Given the description of an element on the screen output the (x, y) to click on. 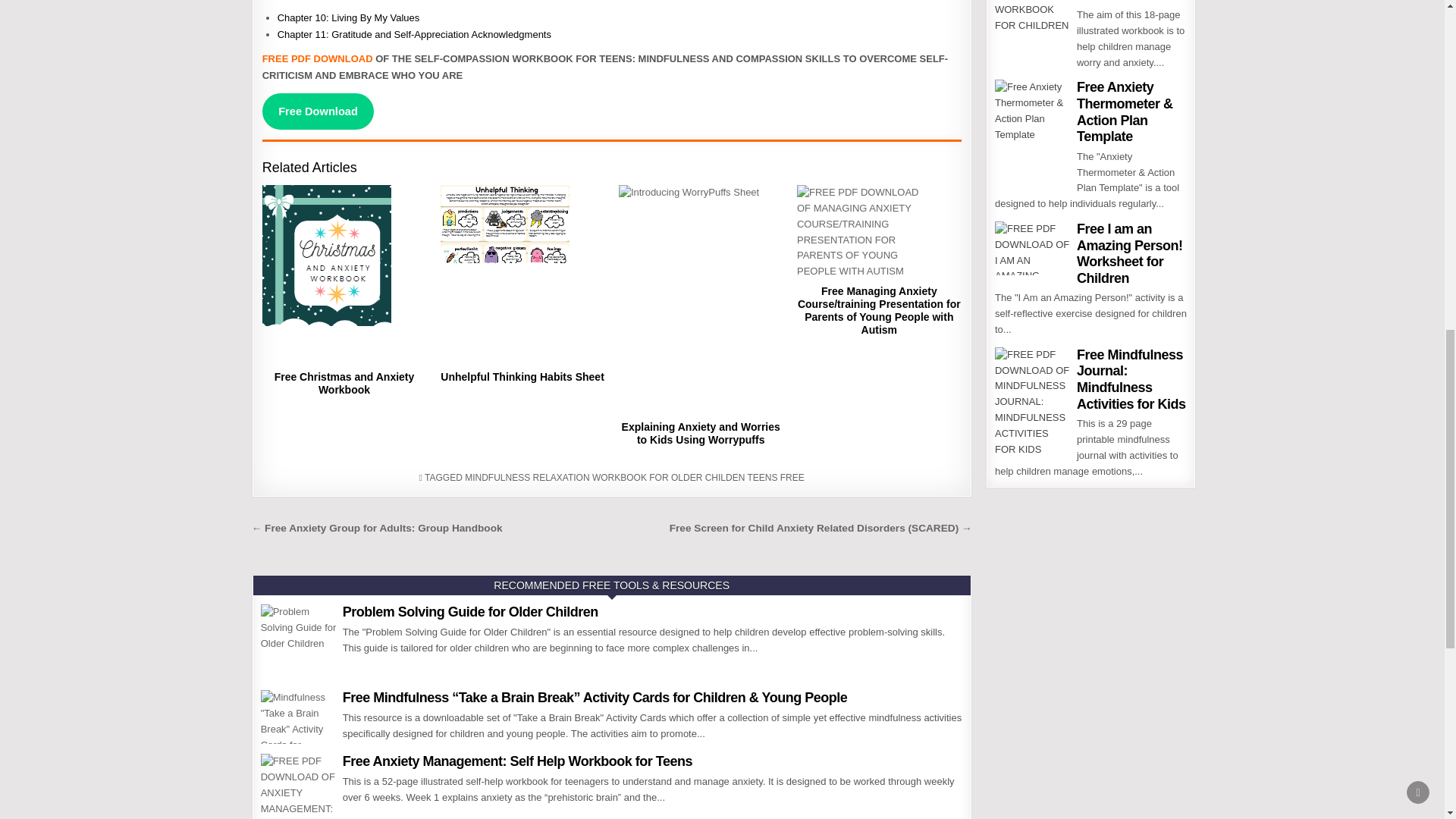
Unhelpful Thinking Habits Sheet (522, 377)
Permanent Link to Free Christmas and Anxiety Workbook (344, 275)
Permanent Link to Unhelpful Thinking Habits Sheet (522, 377)
Permanent Link to Free Christmas and Anxiety Workbook (344, 383)
Free Download (318, 111)
Permanent Link to Unhelpful Thinking Habits Sheet (523, 275)
Free Christmas and Anxiety Workbook (344, 383)
Problem Solving Guide for Older Children (470, 611)
Explaining Anxiety and Worries to Kids Using Worrypuffs (700, 432)
